Given the description of an element on the screen output the (x, y) to click on. 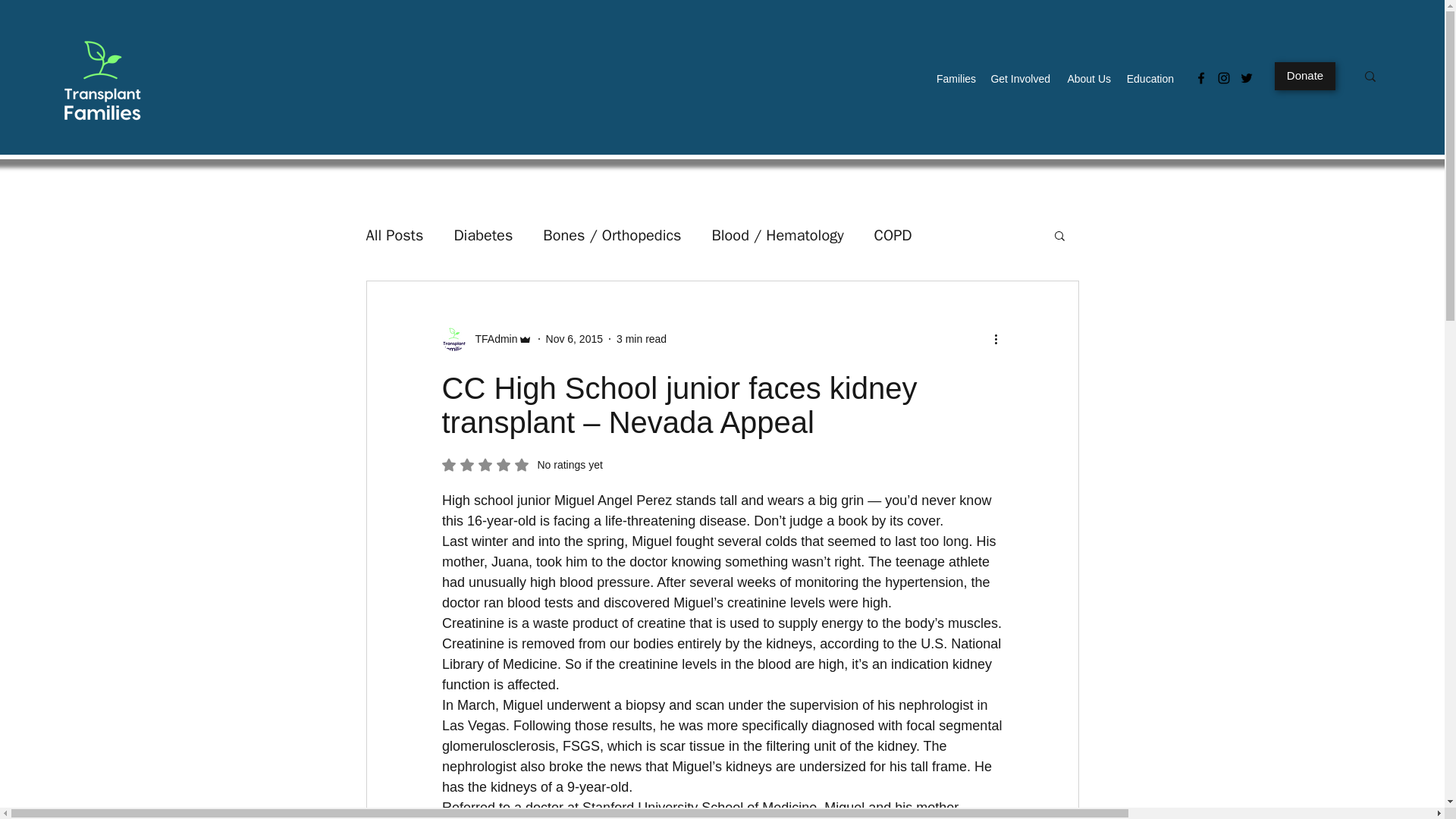
3 min read (640, 337)
COPD (893, 234)
All Posts (394, 234)
Nov 6, 2015 (575, 337)
Diabetes (482, 234)
TFAdmin (490, 338)
Donate (1305, 76)
